Given the description of an element on the screen output the (x, y) to click on. 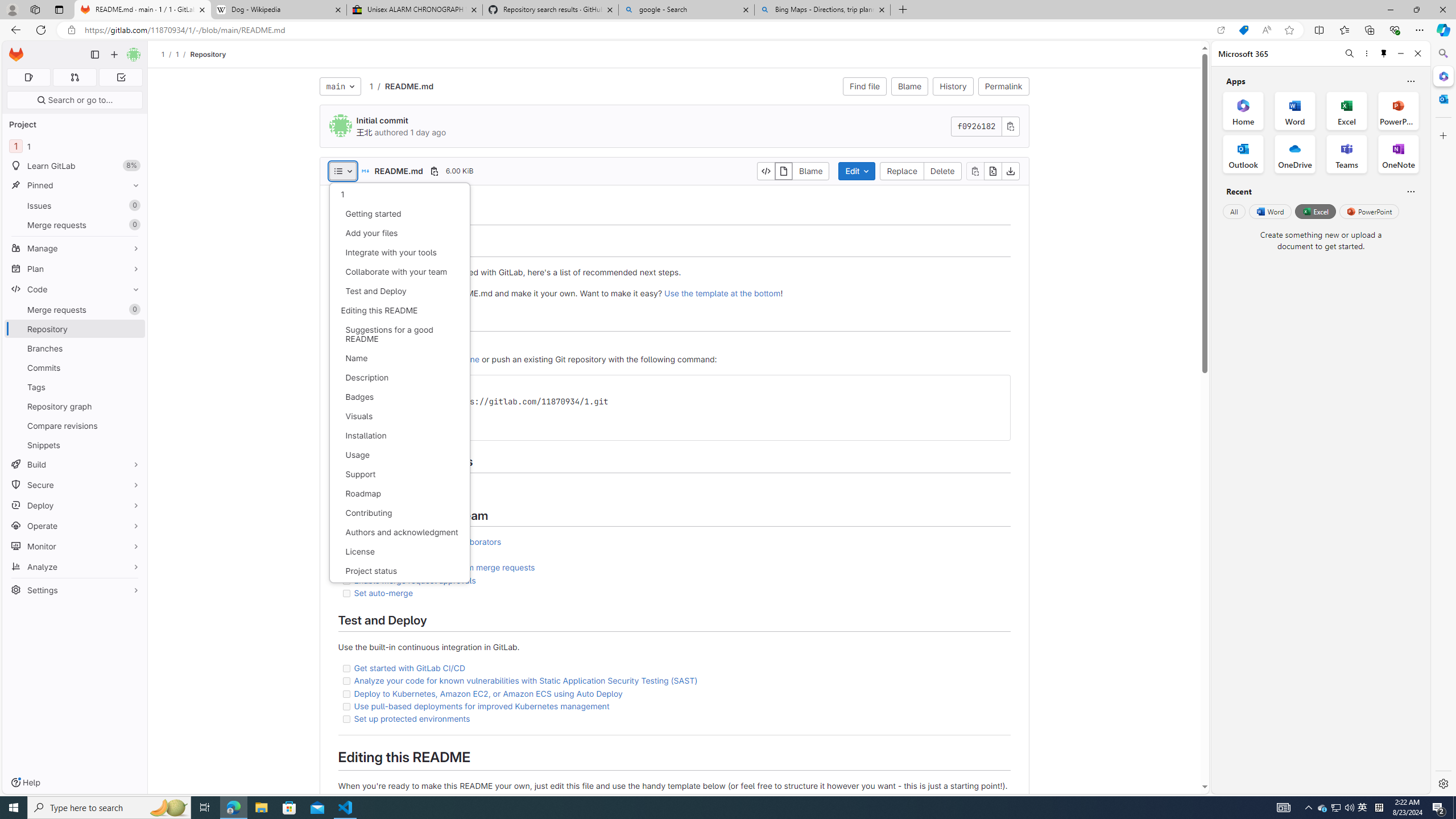
Word Office App (1295, 110)
OneDrive Office App (1295, 154)
Contributing (399, 512)
1 1 (74, 145)
Create (366, 346)
Pin Compare revisions (132, 425)
Support (399, 474)
Monitor (74, 546)
Enable merge request approvals (673, 580)
Test and Deploy (399, 290)
Merge requests 0 (74, 76)
Project status (399, 570)
